Given the description of an element on the screen output the (x, y) to click on. 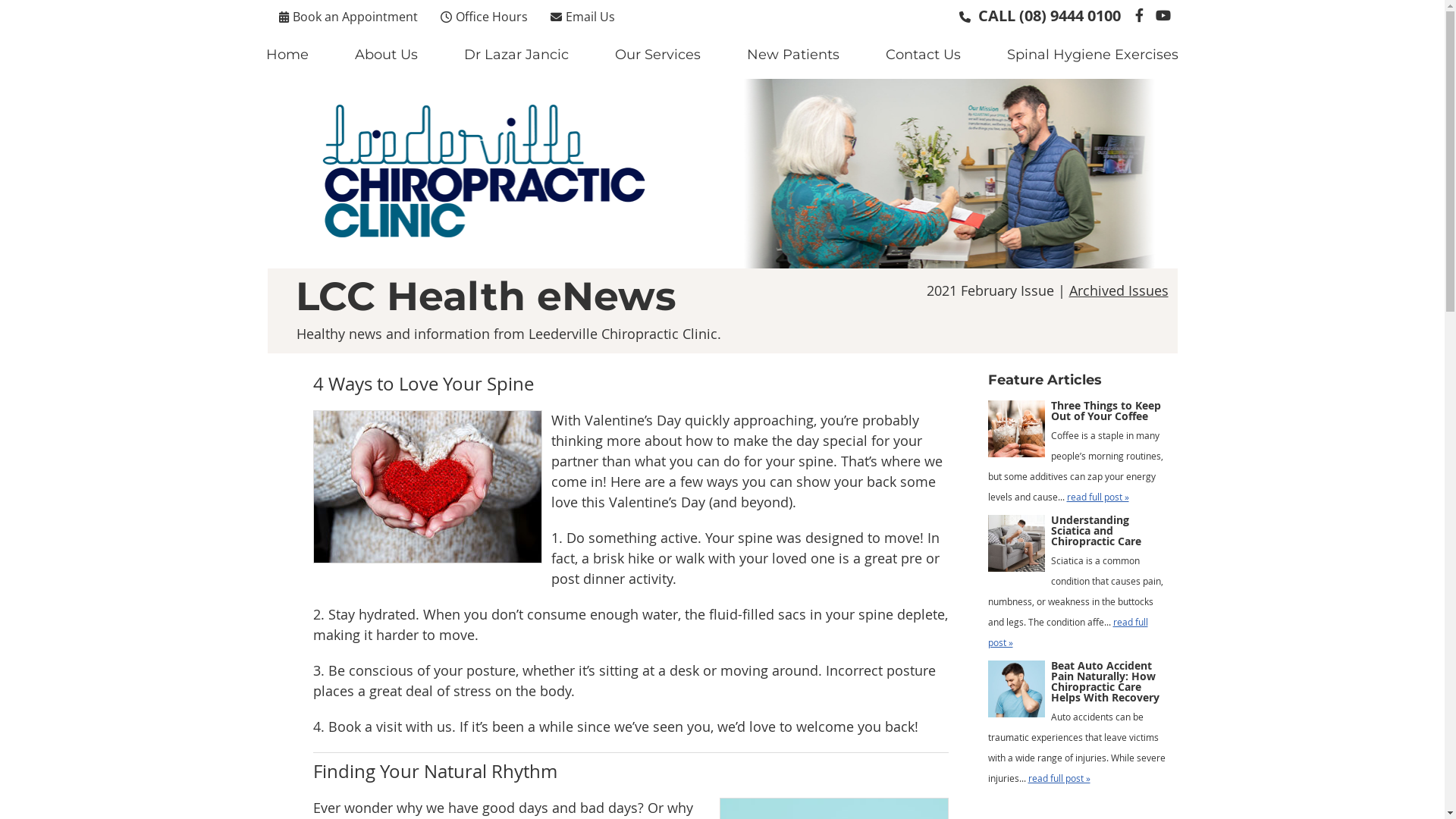
About Us Element type: text (386, 54)
Our Services Element type: text (658, 54)
Leederville Chiropractic Clinic Element type: text (482, 260)
Contact Us Element type: text (923, 54)
Home Element type: text (287, 54)
(08) 9444 0100 Element type: text (1069, 15)
youtube social button Element type: text (1161, 15)
Email Us Element type: text (582, 15)
Office Hours Element type: text (483, 15)
New Patients Element type: text (793, 54)
Book an Appointment Element type: text (348, 15)
Spinal Hygiene Exercises Element type: text (1092, 54)
Three Things to Keep Out of Your Coffee Element type: hover (1015, 432)
Archived Issues Element type: text (1118, 290)
Dr Lazar Jancic Element type: text (516, 54)
Understanding Sciatica and Chiropractic Care Element type: hover (1015, 546)
facebook social button Element type: text (1138, 15)
